Given the description of an element on the screen output the (x, y) to click on. 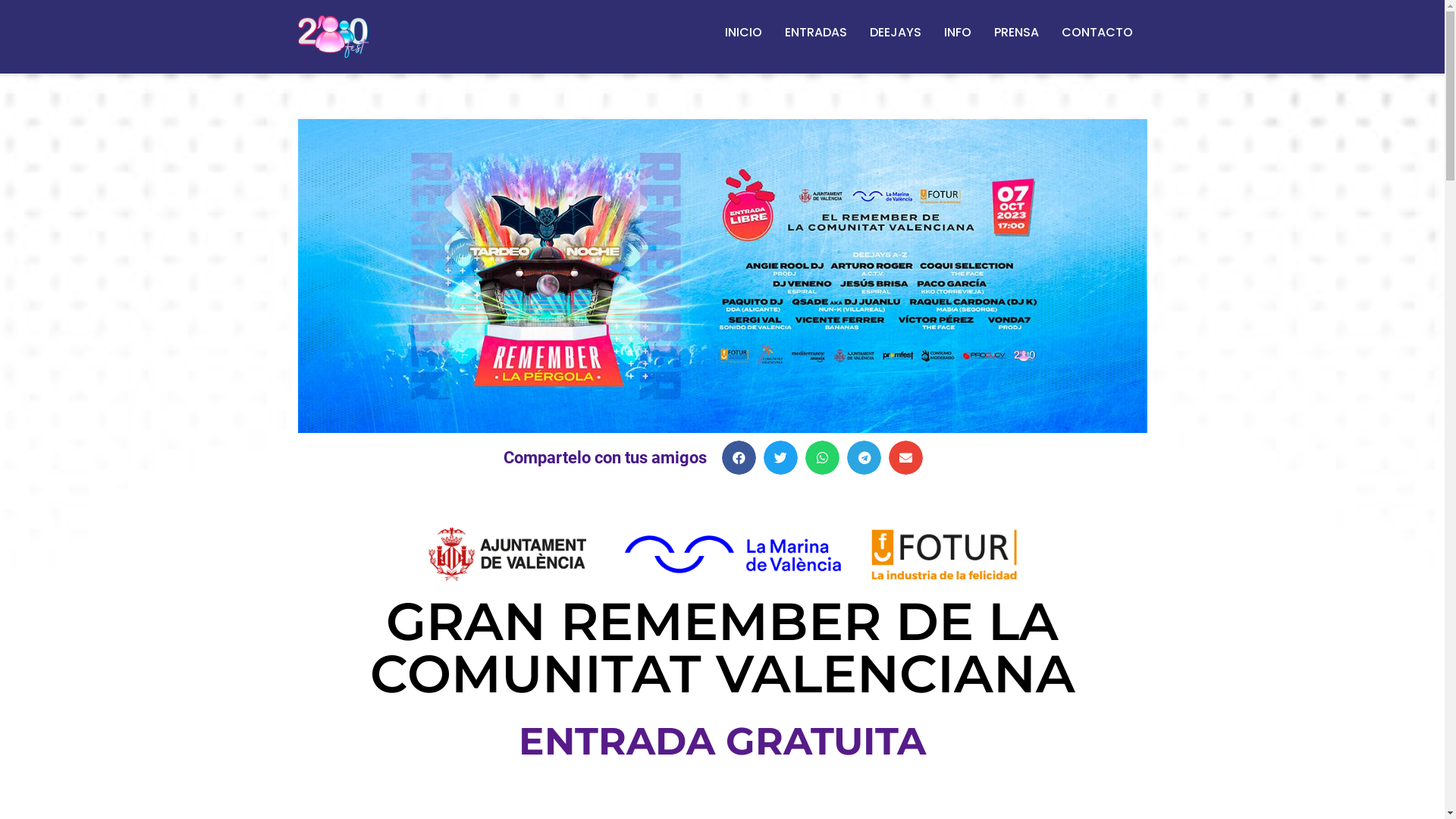
INICIO Element type: text (743, 32)
CONTACTO Element type: text (1097, 32)
INFO Element type: text (957, 32)
PRENSA Element type: text (1016, 32)
ENTRADAS Element type: text (815, 32)
DEEJAYS Element type: text (895, 32)
